Given the description of an element on the screen output the (x, y) to click on. 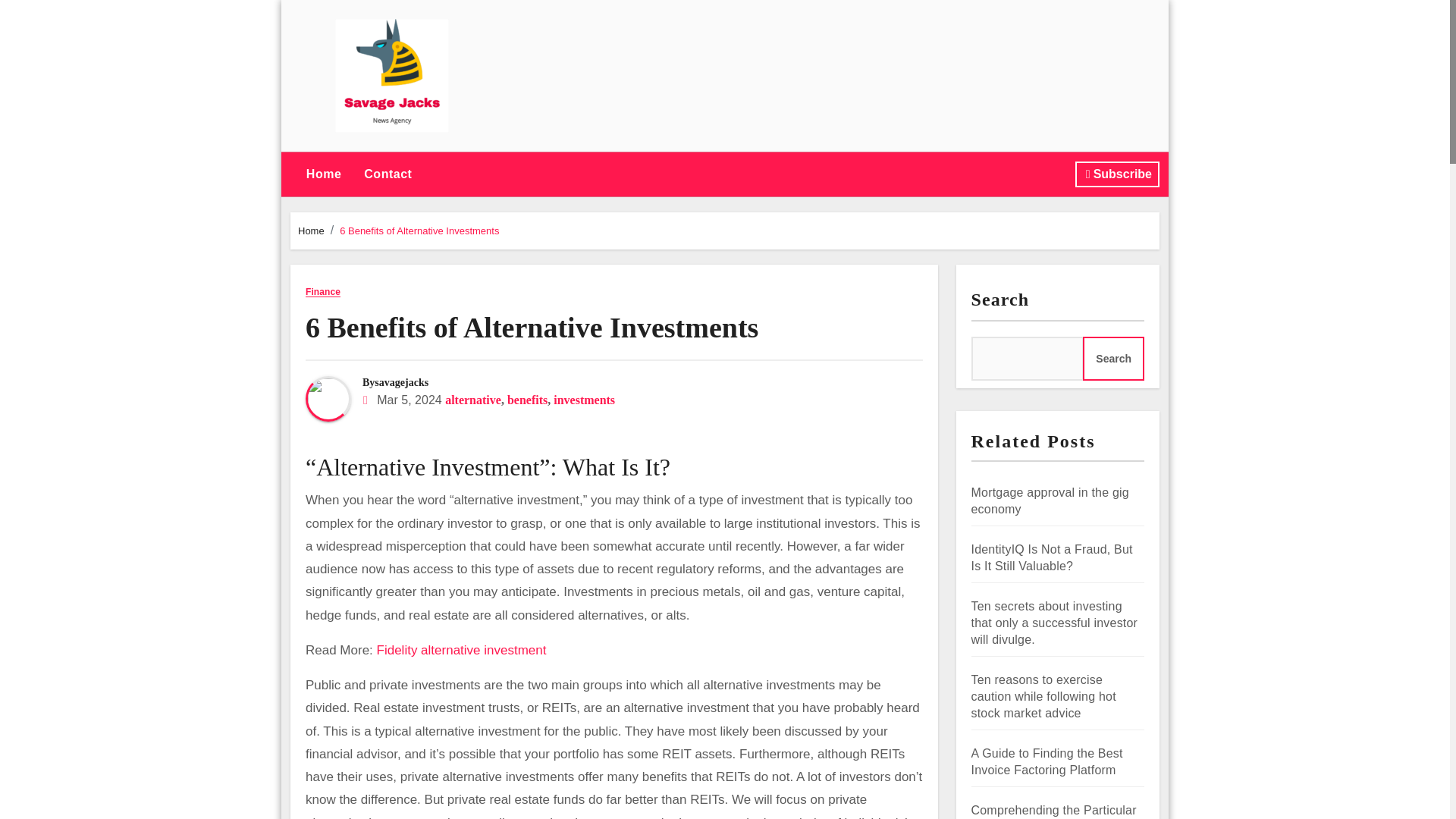
Fidelity alternative investment (462, 649)
alternative (472, 399)
benefits (526, 399)
Permalink to: 6 Benefits of Alternative Investments (531, 327)
investments (583, 399)
Contact (387, 174)
Home (311, 230)
Subscribe (1116, 174)
Finance (322, 292)
Home (323, 174)
6 Benefits of Alternative Investments (531, 327)
6 Benefits of Alternative Investments (419, 230)
savagejacks (401, 382)
Home (323, 174)
